Given the description of an element on the screen output the (x, y) to click on. 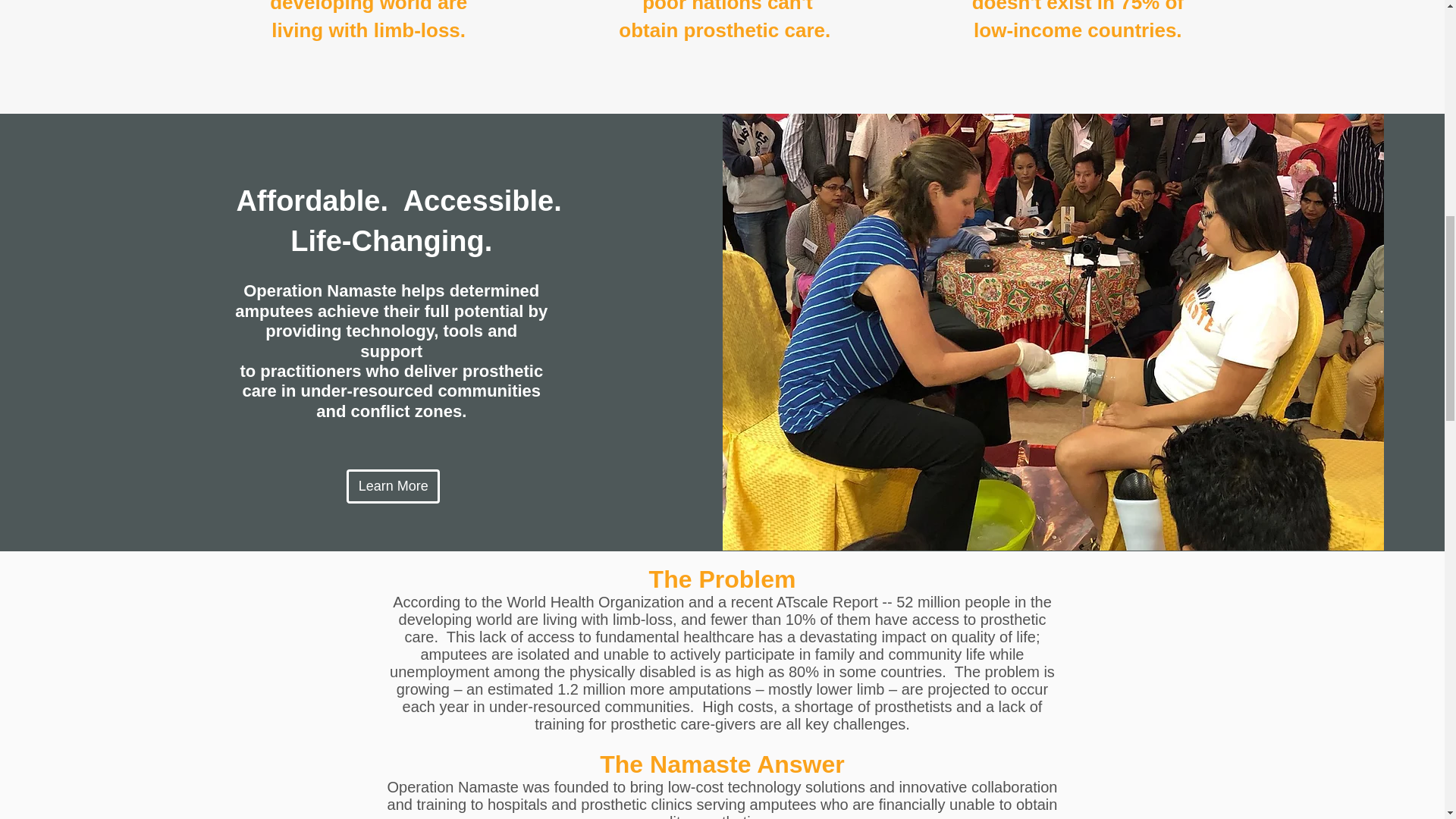
Learn More (392, 486)
